Given the description of an element on the screen output the (x, y) to click on. 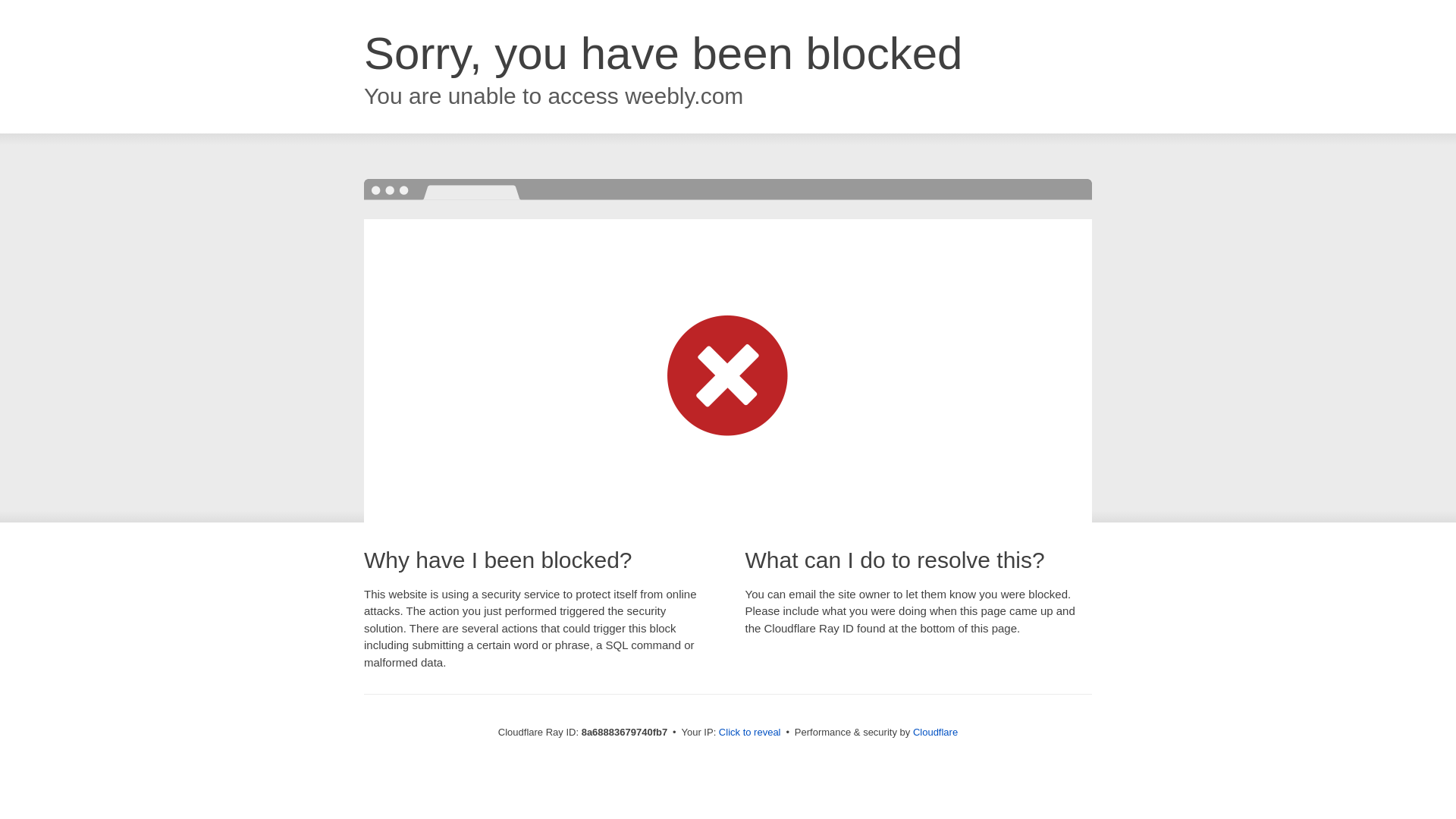
Cloudflare (935, 731)
Click to reveal (749, 732)
